Given the description of an element on the screen output the (x, y) to click on. 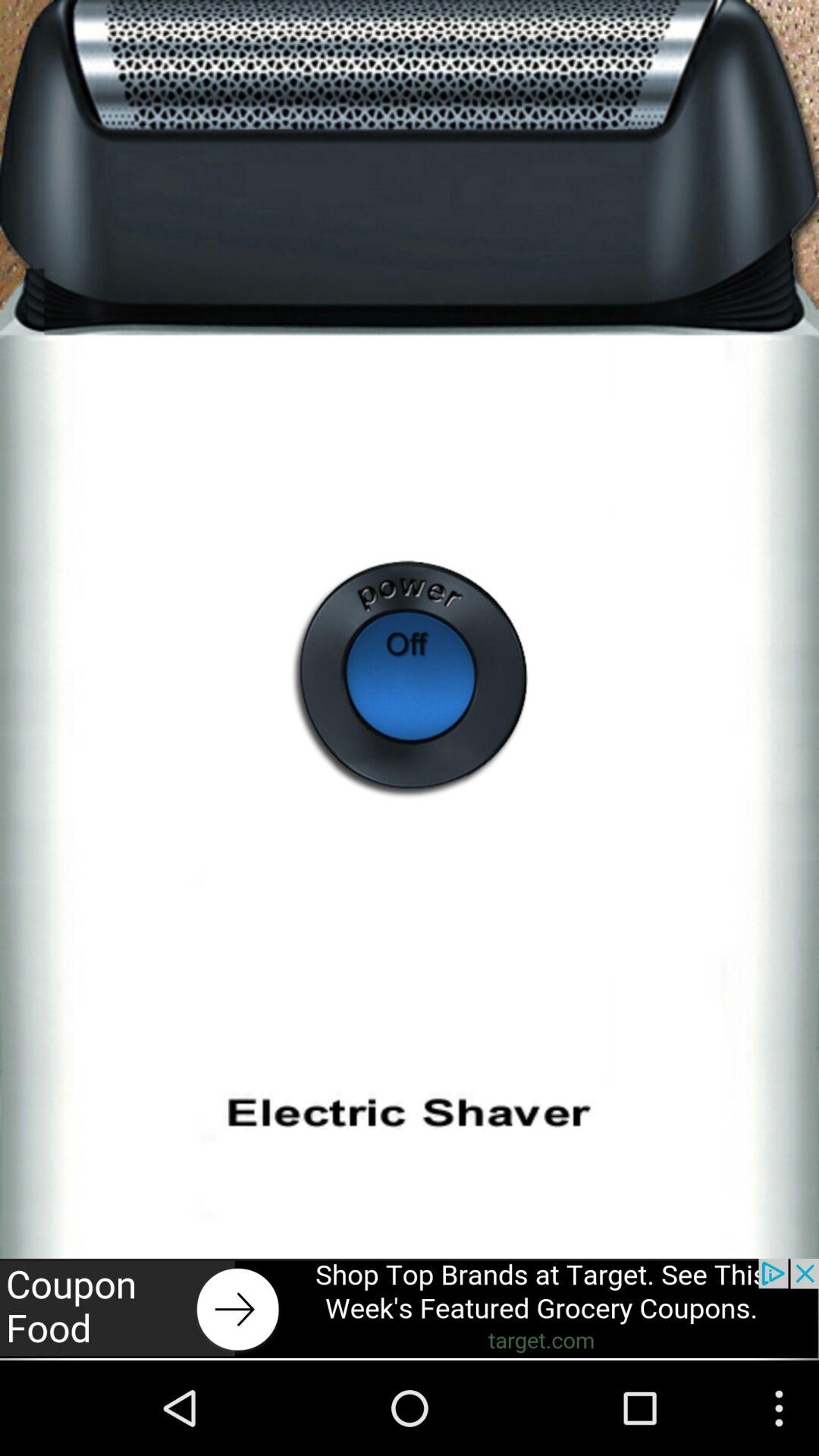
off batton (409, 679)
